Given the description of an element on the screen output the (x, y) to click on. 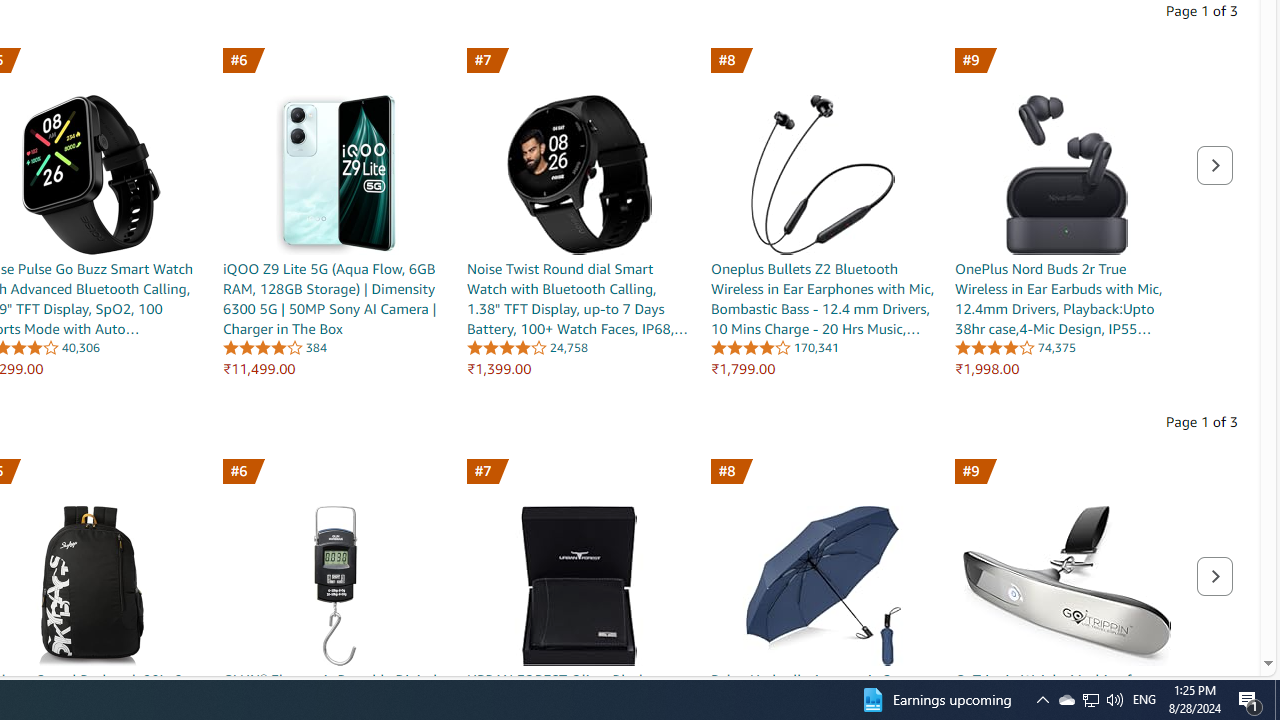
Next page (1214, 575)
